Given the description of an element on the screen output the (x, y) to click on. 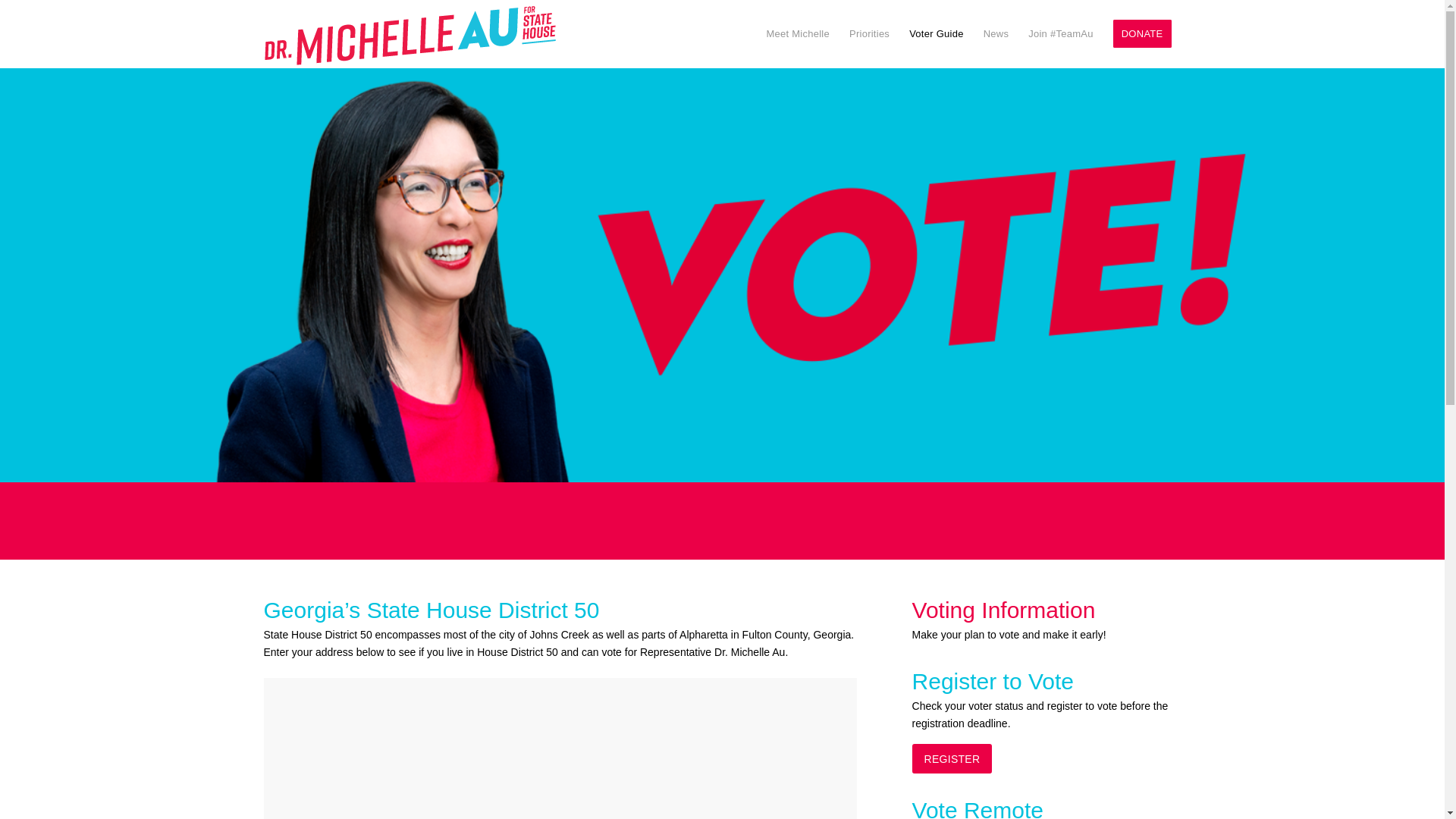
REGISTER (952, 758)
Meet Michelle (797, 33)
2023 House District 50 (560, 748)
DONATE (1141, 33)
Voter Guide (936, 33)
